Given the description of an element on the screen output the (x, y) to click on. 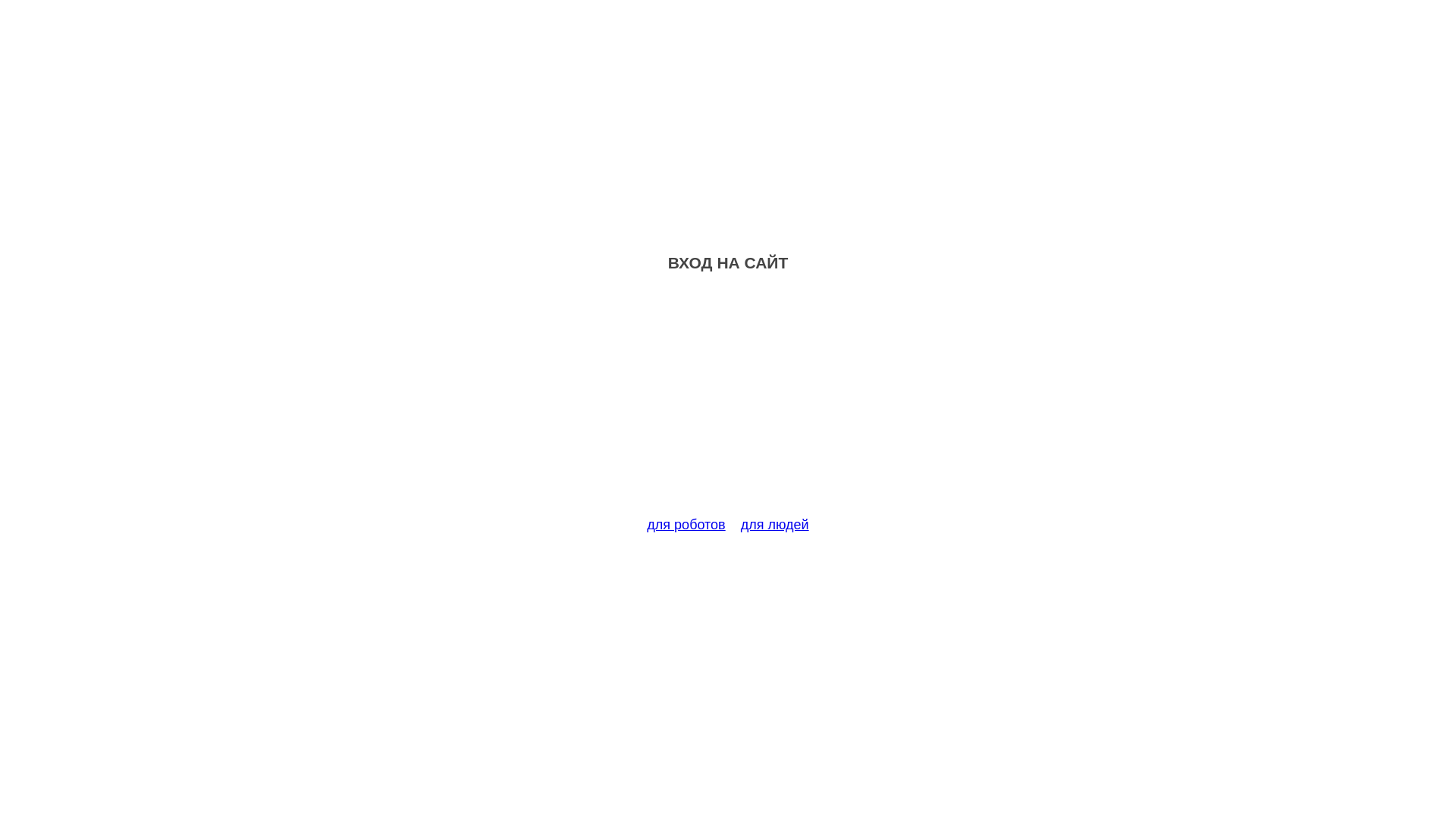
Advertisement Element type: hover (727, 403)
